Given the description of an element on the screen output the (x, y) to click on. 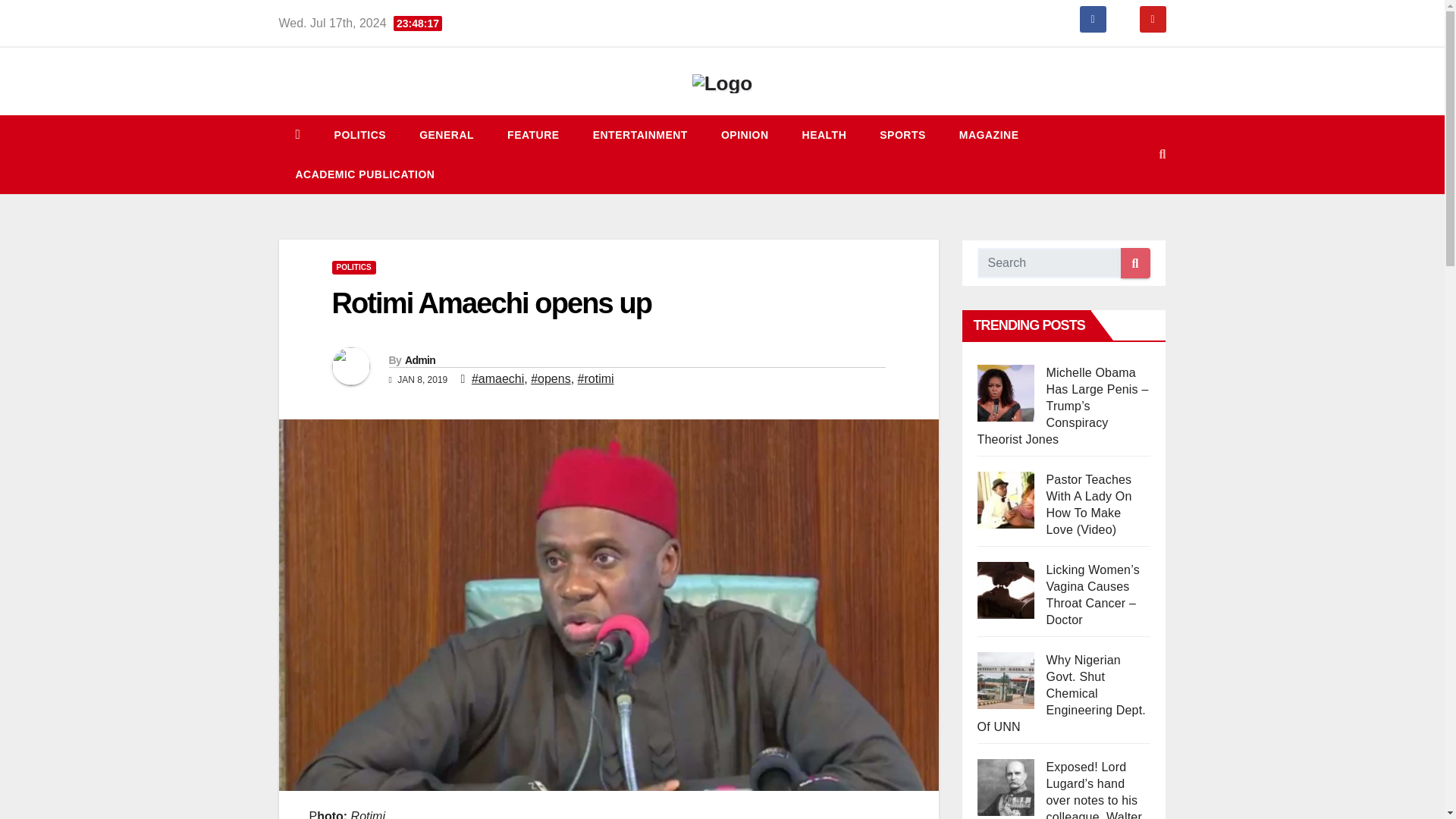
Opinion (745, 134)
POLITICS (360, 134)
Rotimi Amaechi opens up (491, 303)
OPINION (745, 134)
ENTERTAINMENT (640, 134)
Feature (533, 134)
SPORTS (902, 134)
FEATURE (533, 134)
MAGAZINE (988, 134)
ACADEMIC PUBLICATION (365, 174)
Academic Publication (365, 174)
General (446, 134)
Magazine (988, 134)
Permalink to: Rotimi Amaechi opens up (491, 303)
HEALTH (824, 134)
